Given the description of an element on the screen output the (x, y) to click on. 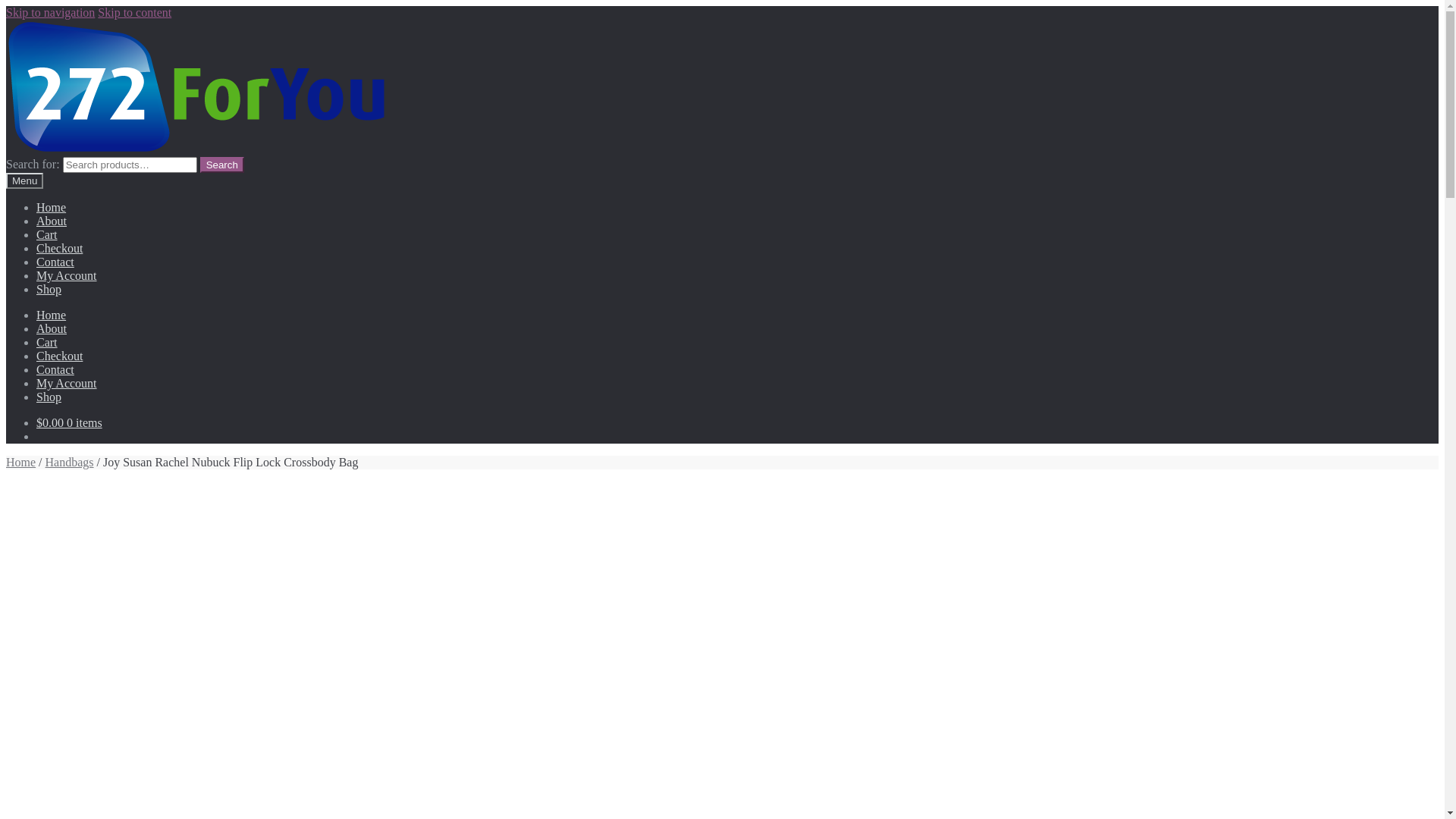
Contact Element type: text (55, 369)
272 For You Element type: hover (196, 86)
$0.00 0 items Element type: text (69, 422)
Skip to content Element type: text (134, 12)
My Account Element type: text (66, 382)
Home Element type: text (50, 314)
Cart Element type: text (46, 341)
My Account Element type: text (66, 275)
Cart Element type: text (46, 234)
Search Element type: text (222, 164)
Handbags Element type: text (69, 461)
Shop Element type: text (48, 396)
About Element type: text (51, 220)
Home Element type: text (20, 461)
Checkout Element type: text (59, 355)
Home Element type: text (50, 206)
Menu Element type: text (24, 180)
Skip to navigation Element type: text (50, 12)
About Element type: text (51, 328)
Shop Element type: text (48, 288)
Checkout Element type: text (59, 247)
Contact Element type: text (55, 261)
